Given the description of an element on the screen output the (x, y) to click on. 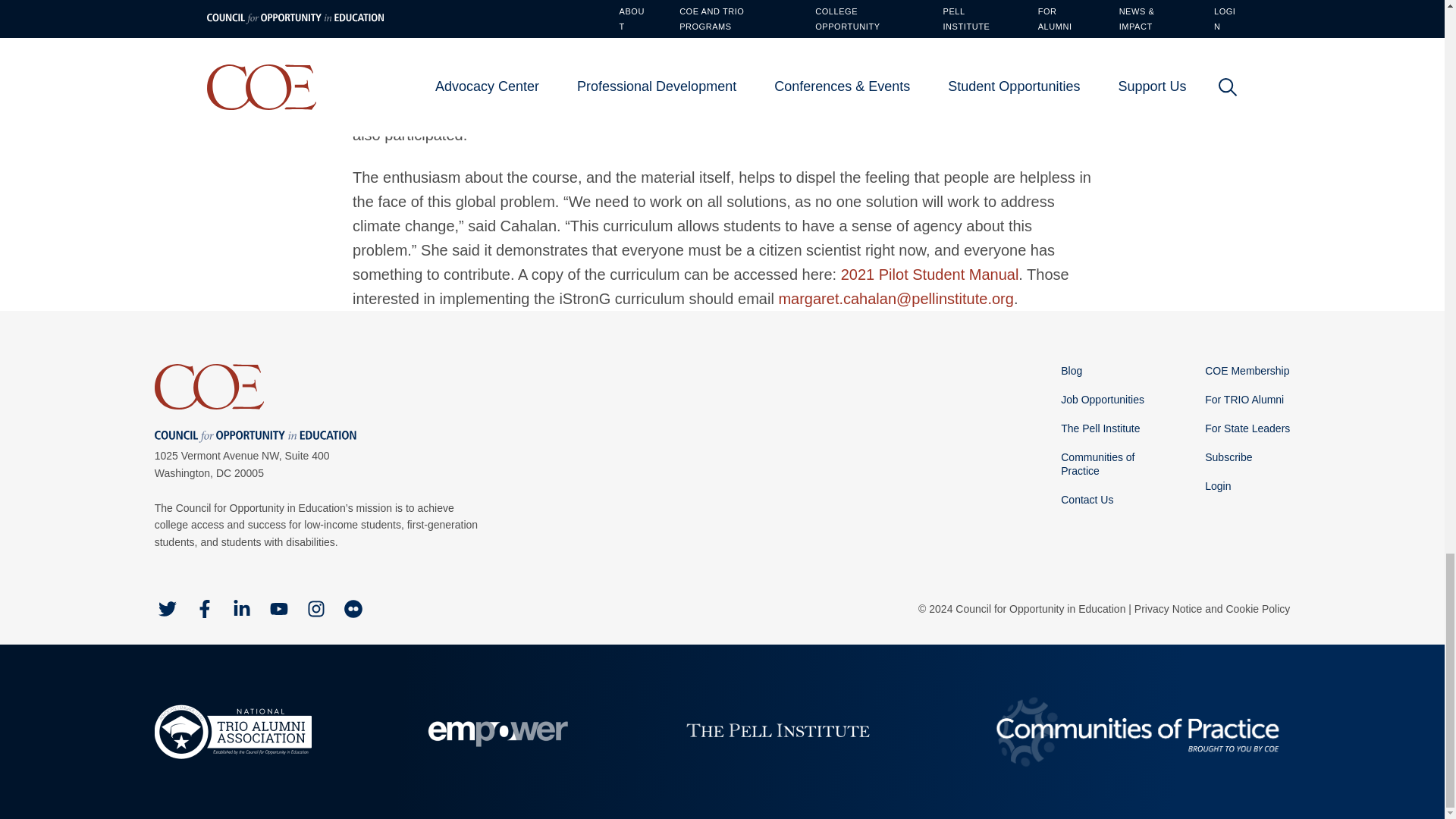
twitter (167, 608)
empower (494, 731)
youtube (278, 608)
facebook (204, 608)
flickr (352, 608)
instagram (315, 608)
linkedin (241, 608)
